Given the description of an element on the screen output the (x, y) to click on. 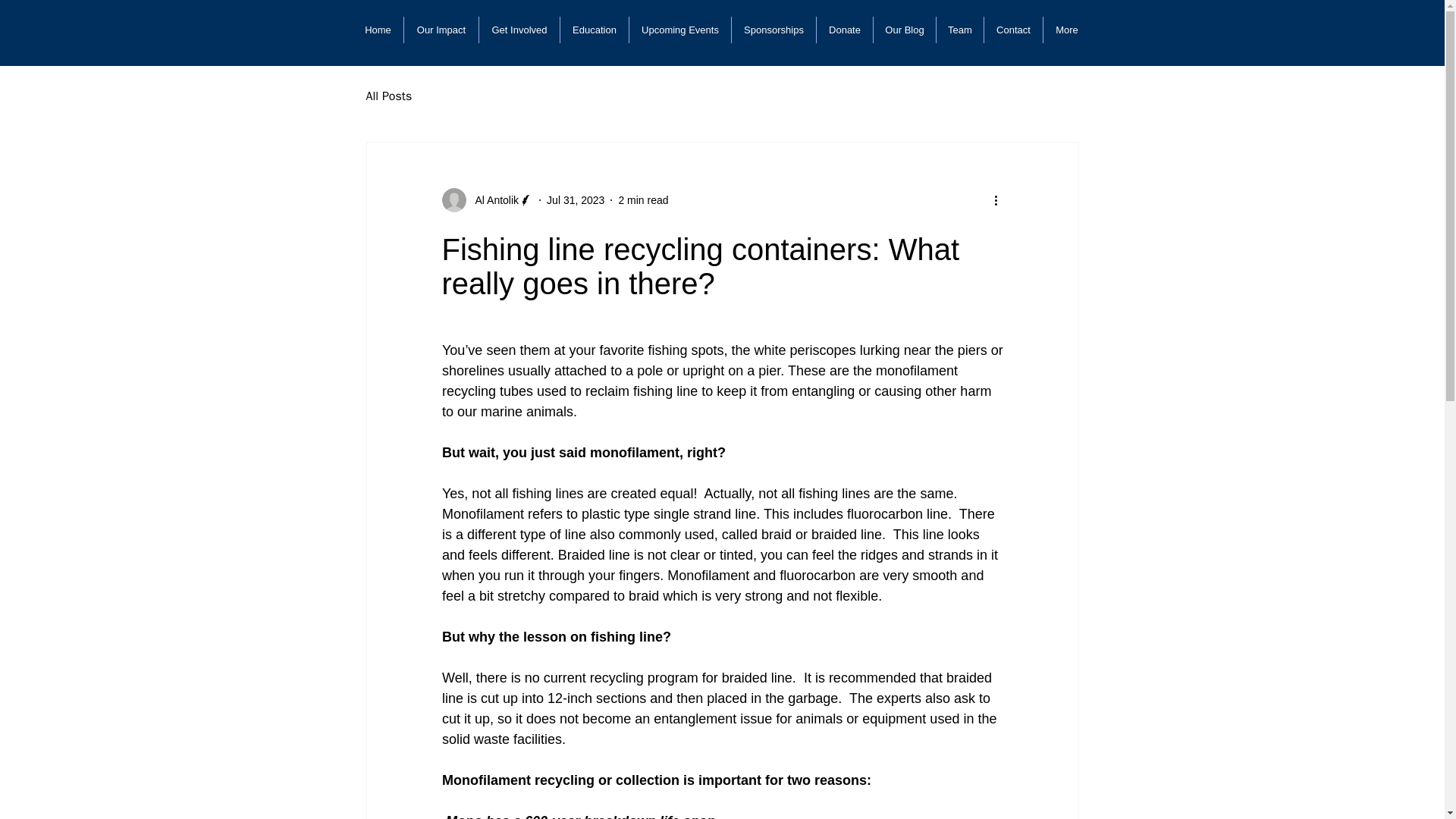
Contact (1013, 29)
Get Involved (519, 29)
Upcoming Events (679, 29)
2 min read (642, 200)
Our Impact (441, 29)
Jul 31, 2023 (575, 200)
Donate (844, 29)
Education (594, 29)
Sponsorships (773, 29)
Our Blog (904, 29)
Home (377, 29)
All Posts (388, 95)
Team (960, 29)
Al Antolik (491, 200)
